Given the description of an element on the screen output the (x, y) to click on. 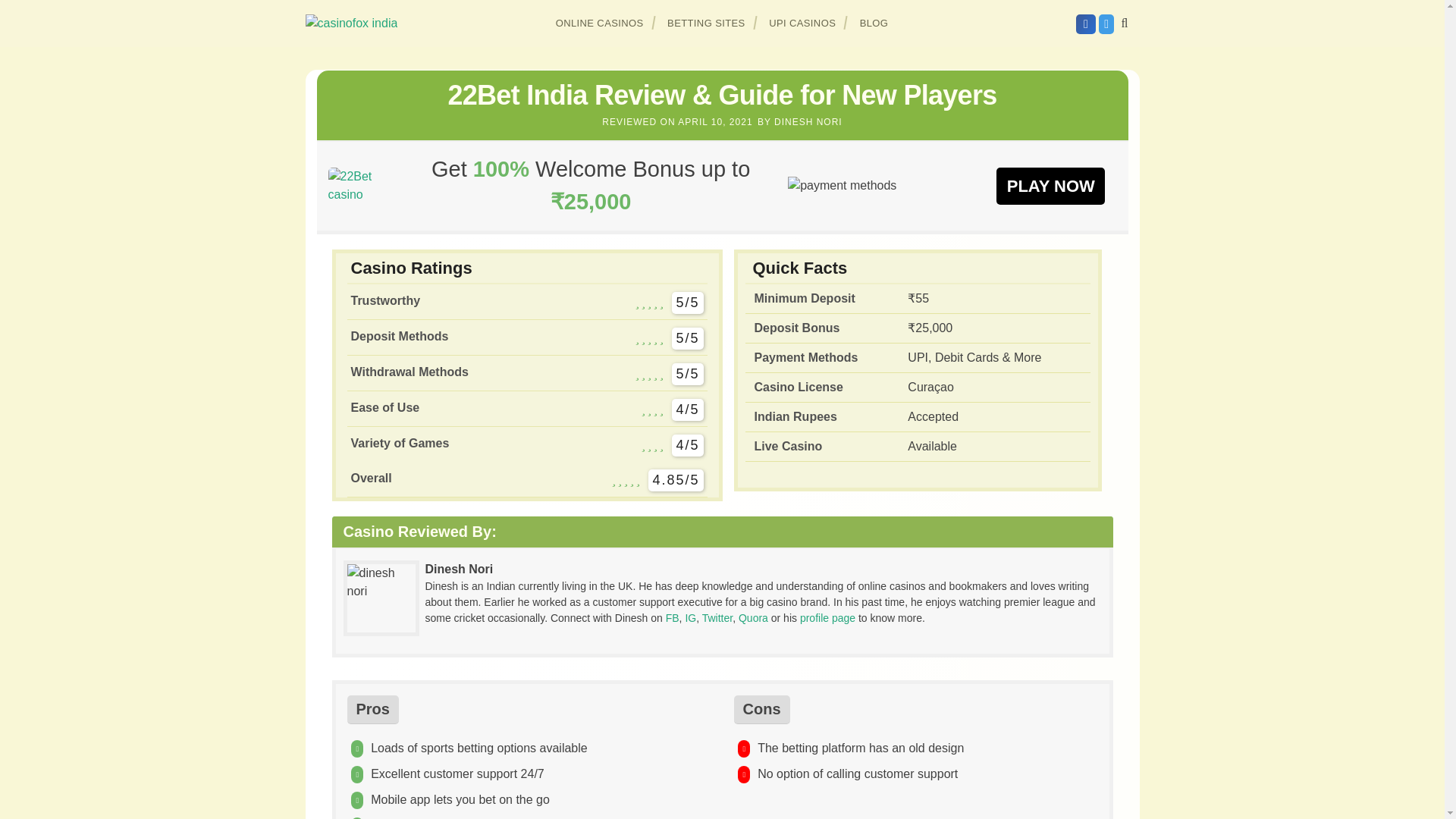
BLOG (874, 23)
ONLINE CASINOS (599, 23)
BETTING SITES (706, 23)
FB (672, 617)
profile page (827, 617)
Twitter (716, 617)
IG (689, 617)
UPI CASINOS (801, 23)
22Bet (1050, 185)
Quora (753, 617)
